Given the description of an element on the screen output the (x, y) to click on. 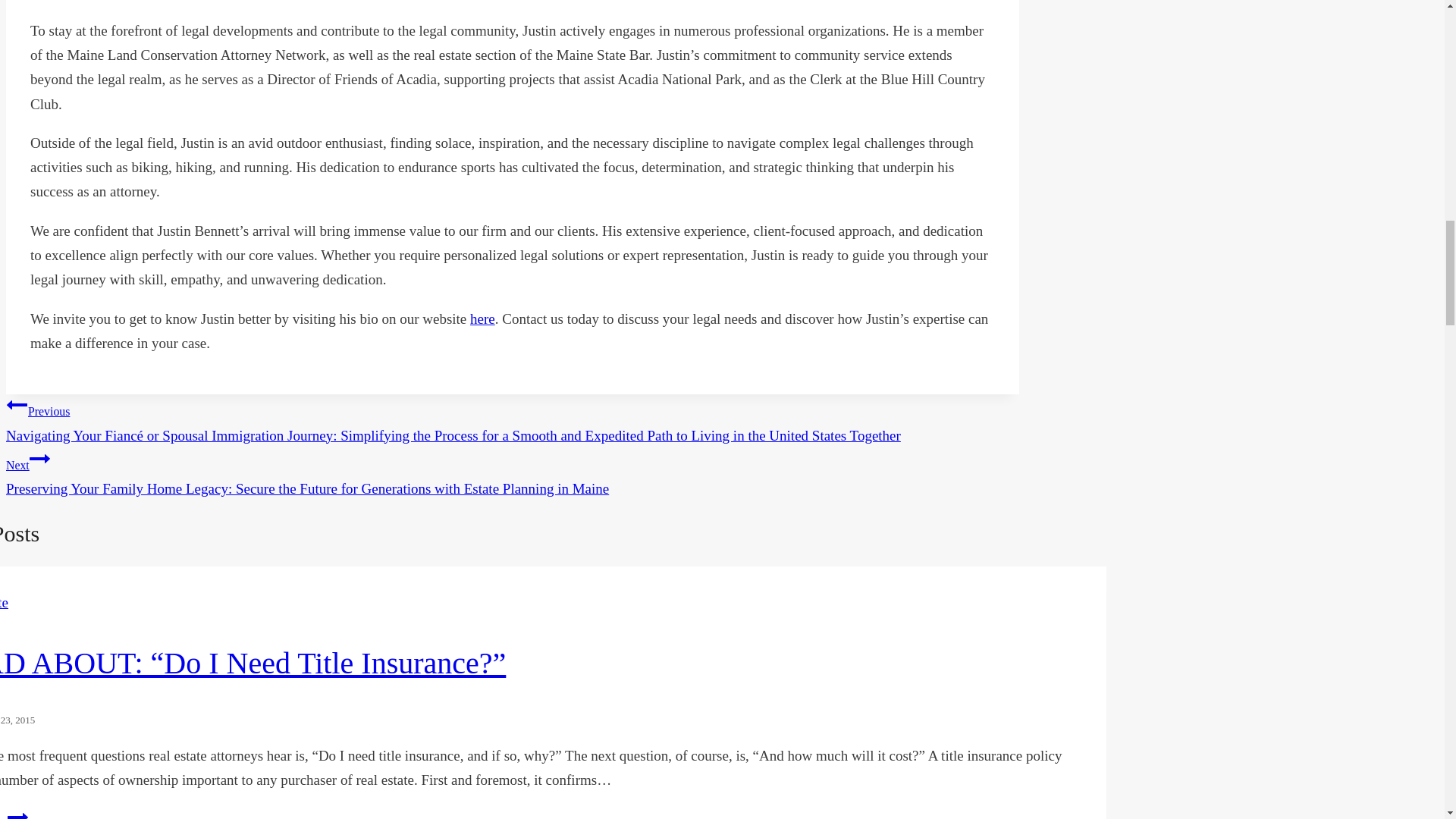
Continue (17, 812)
here (482, 318)
Previous (16, 404)
Continue (39, 458)
